Given the description of an element on the screen output the (x, y) to click on. 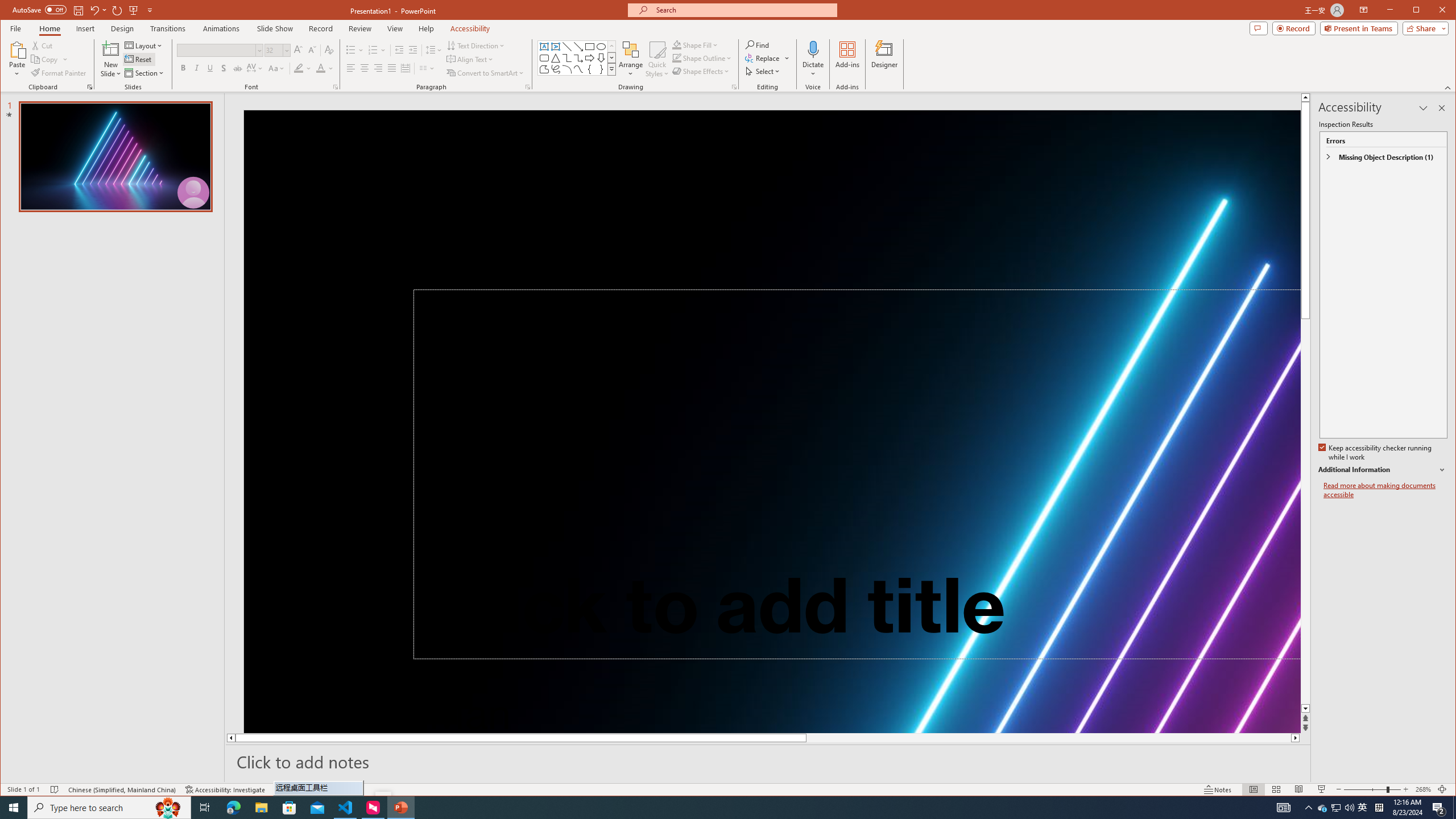
Title TextBox (856, 474)
Oval (601, 46)
Distributed (405, 68)
User Promoted Notification Area (1336, 807)
Center (364, 68)
Line (567, 46)
Shapes (611, 69)
Keep accessibility checker running while I work (1375, 452)
